Given the description of an element on the screen output the (x, y) to click on. 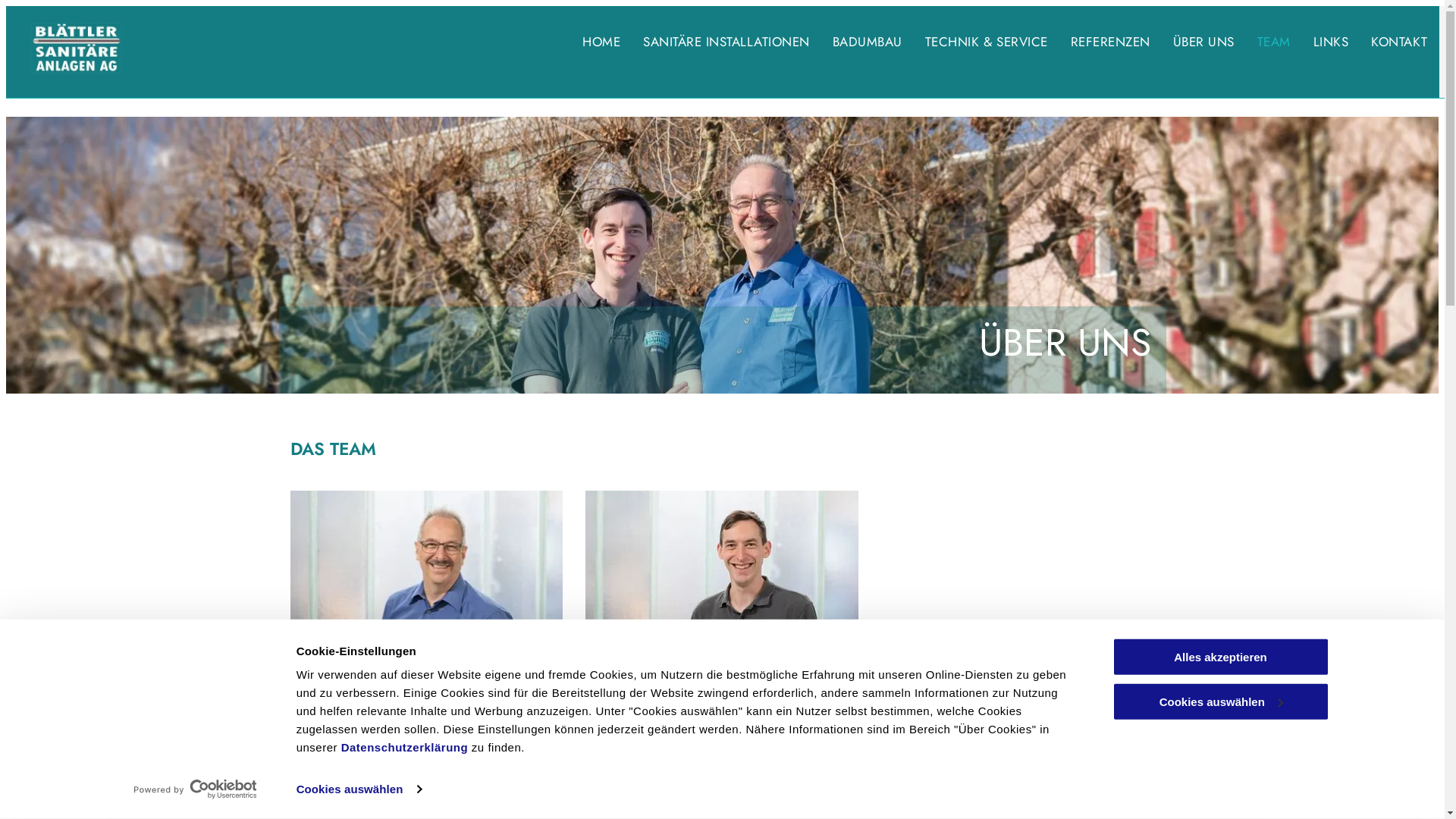
joel.blaettler@blaettler-sanitaer.ch Element type: text (670, 807)
041 632 42 42 Element type: text (804, 807)
041 632 42 42 Element type: text (515, 807)
KONTAKT Element type: text (1399, 42)
TEAM Element type: text (1273, 42)
REFERENZEN Element type: text (1110, 42)
HOME Element type: text (601, 42)
BADUMBAU Element type: text (867, 42)
Alles akzeptieren Element type: text (1219, 656)
| Element type: text (760, 807)
TECHNIK & SERVICE Element type: text (986, 42)
LINKS Element type: text (1331, 42)
peter.blaettler@blaettler-sanitaer.ch Element type: text (377, 807)
